Given the description of an element on the screen output the (x, y) to click on. 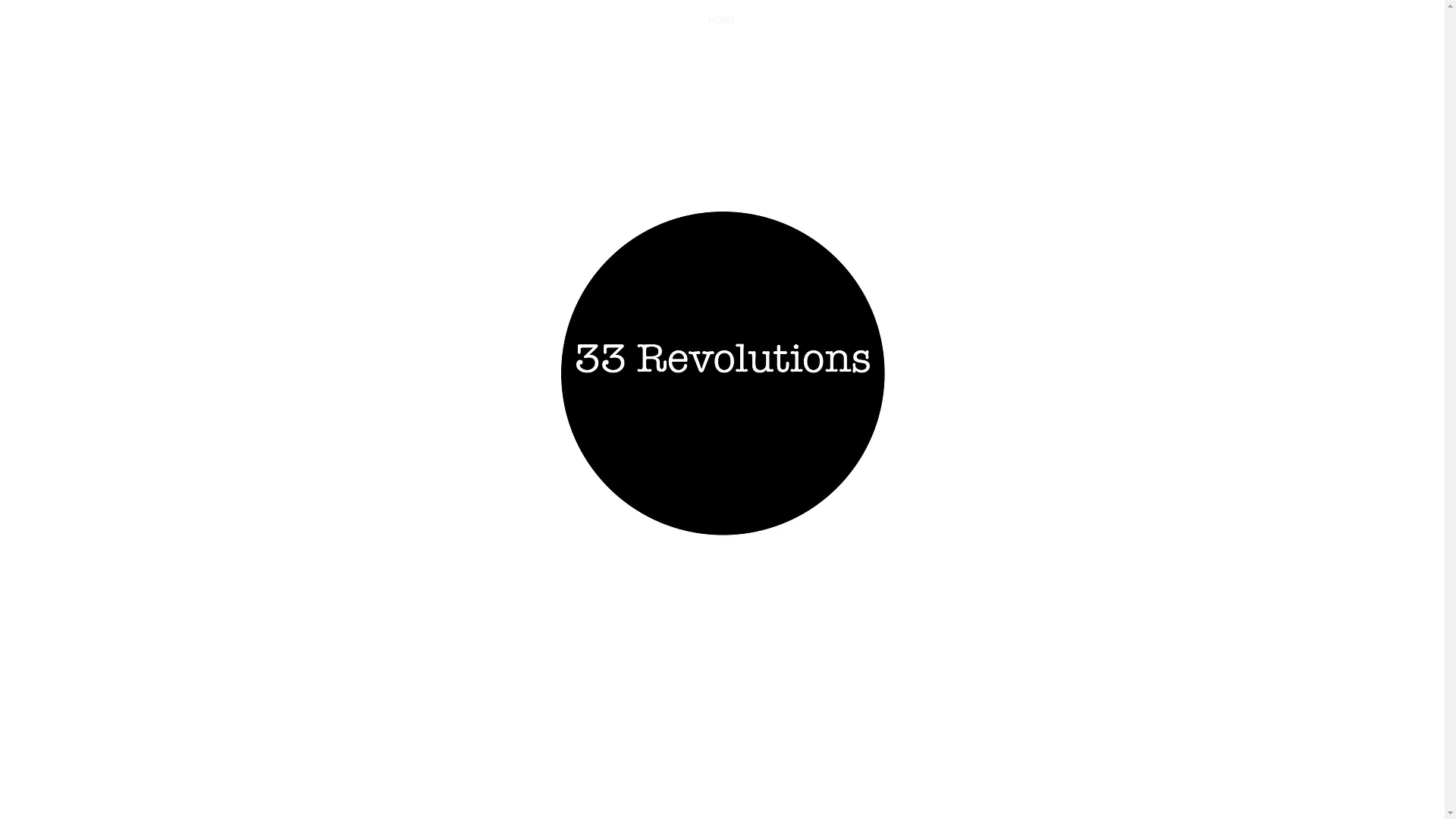
33 Revolutions Logo.jpg Element type: hover (721, 372)
HOME Element type: text (721, 19)
